Given the description of an element on the screen output the (x, y) to click on. 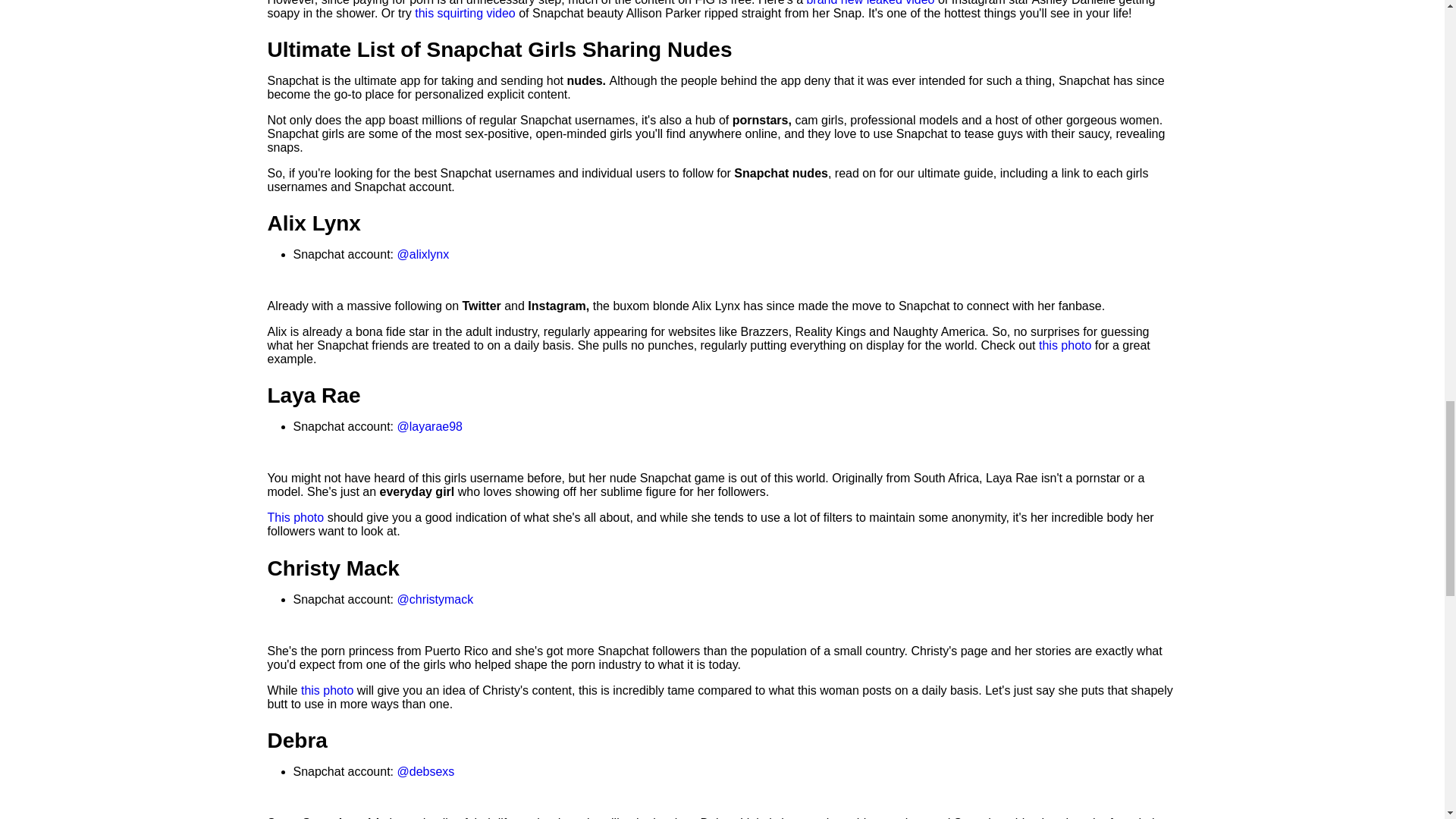
brand new leaked video (870, 2)
This photo (294, 517)
this photo (327, 689)
this photo (1066, 345)
this squirting video (466, 12)
